Given the description of an element on the screen output the (x, y) to click on. 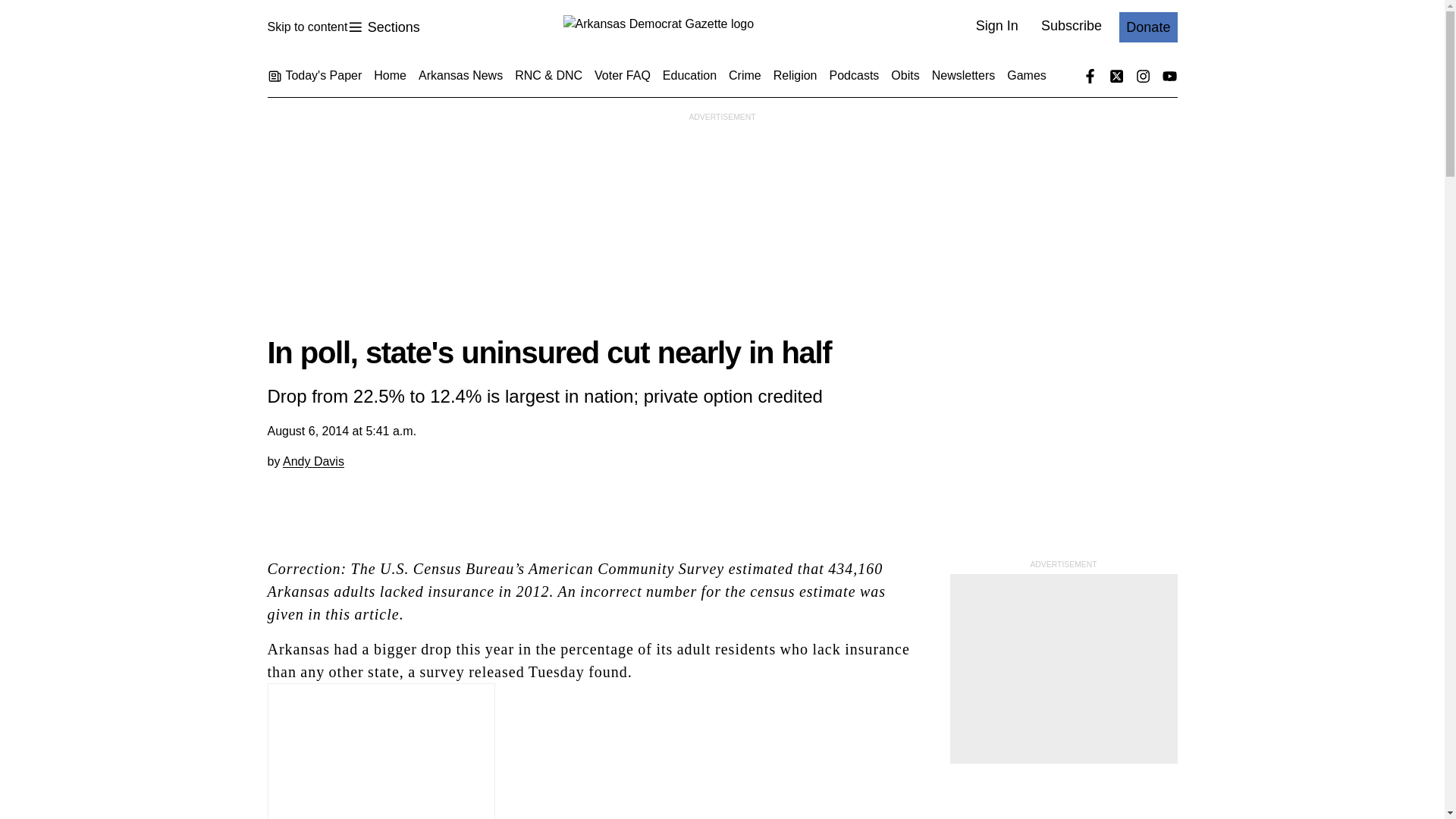
Skip to content (306, 27)
Arkansas Democrat Gazette (383, 26)
